Given the description of an element on the screen output the (x, y) to click on. 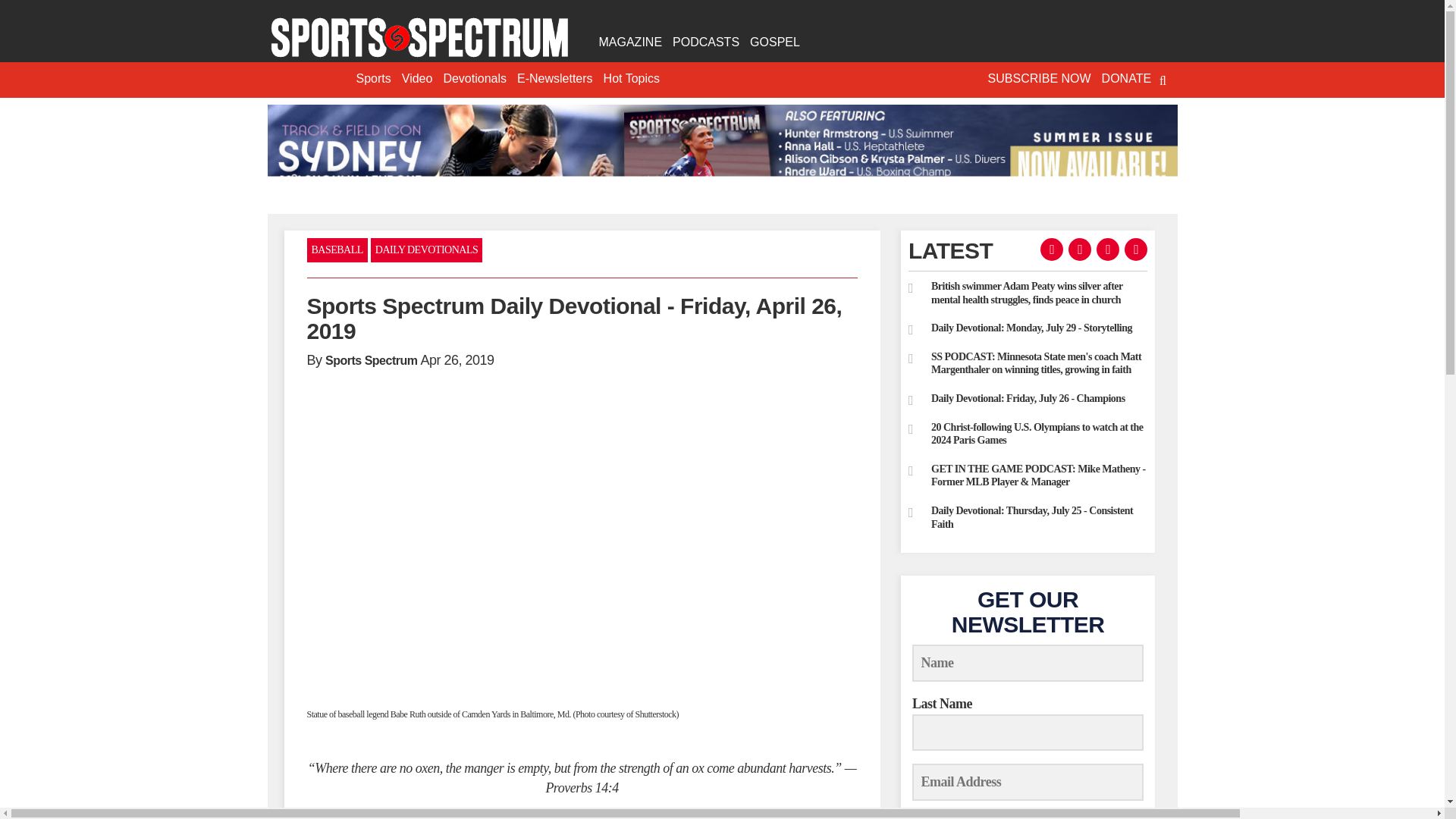
MAGAZINE (629, 42)
GOSPEL (774, 42)
Hot Topics (631, 78)
Video (417, 78)
DAILY DEVOTIONALS (426, 250)
Sports (373, 78)
DONATE (1126, 78)
Sports Spectrum (370, 359)
SUBSCRIBE NOW (1039, 78)
E-Newsletters (555, 78)
PODCASTS (705, 42)
Devotionals (475, 78)
BASEBALL (335, 250)
Sports Spectrum (418, 37)
